Given the description of an element on the screen output the (x, y) to click on. 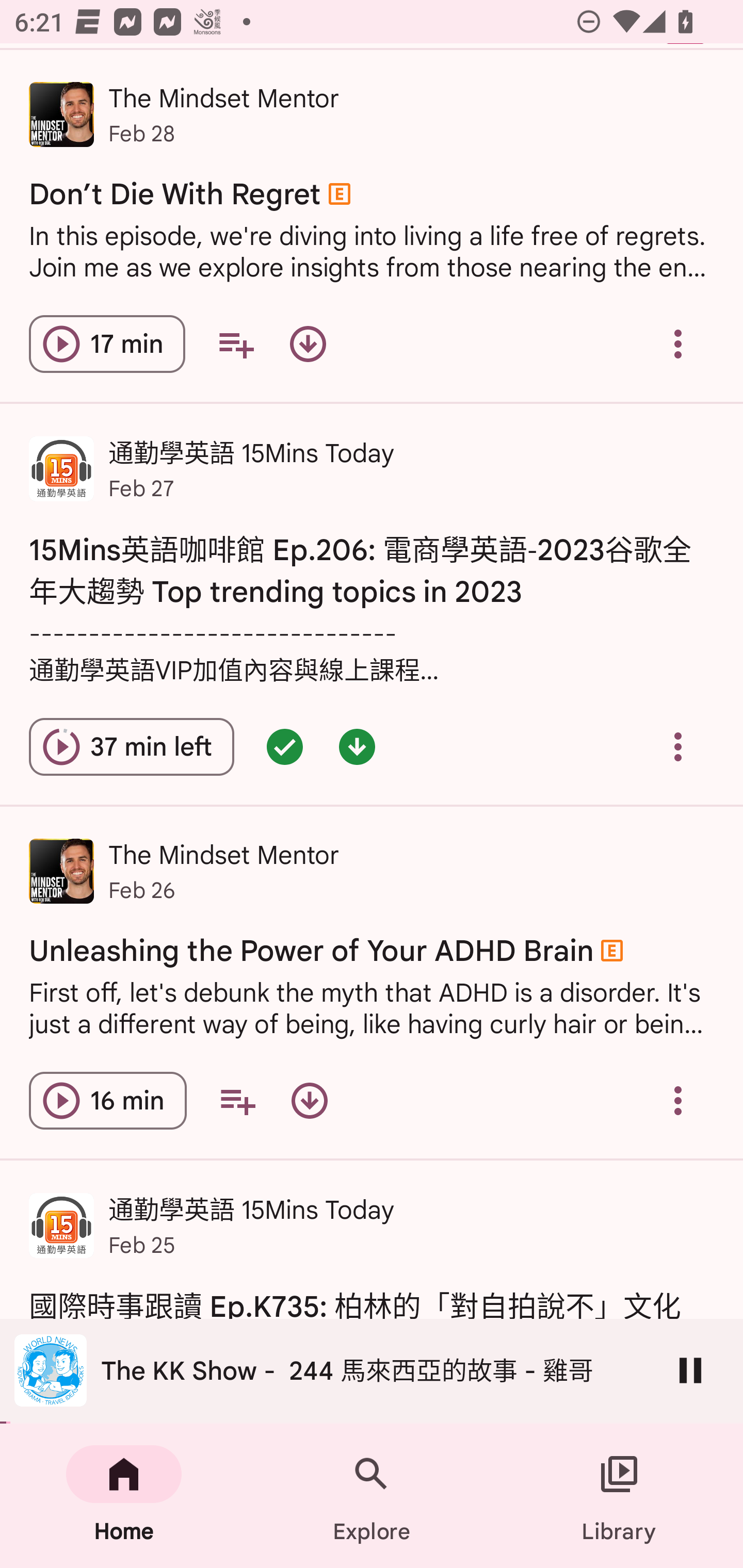
Play episode Don’t Die With Regret 17 min (106, 344)
Add to your queue (235, 344)
Download episode (307, 344)
Overflow menu (677, 344)
Episode queued - double tap for options (284, 747)
Episode downloaded - double tap for options (356, 747)
Overflow menu (677, 747)
Add to your queue (237, 1100)
Download episode (309, 1100)
Overflow menu (677, 1100)
Pause (690, 1370)
Explore (371, 1495)
Library (619, 1495)
